Given the description of an element on the screen output the (x, y) to click on. 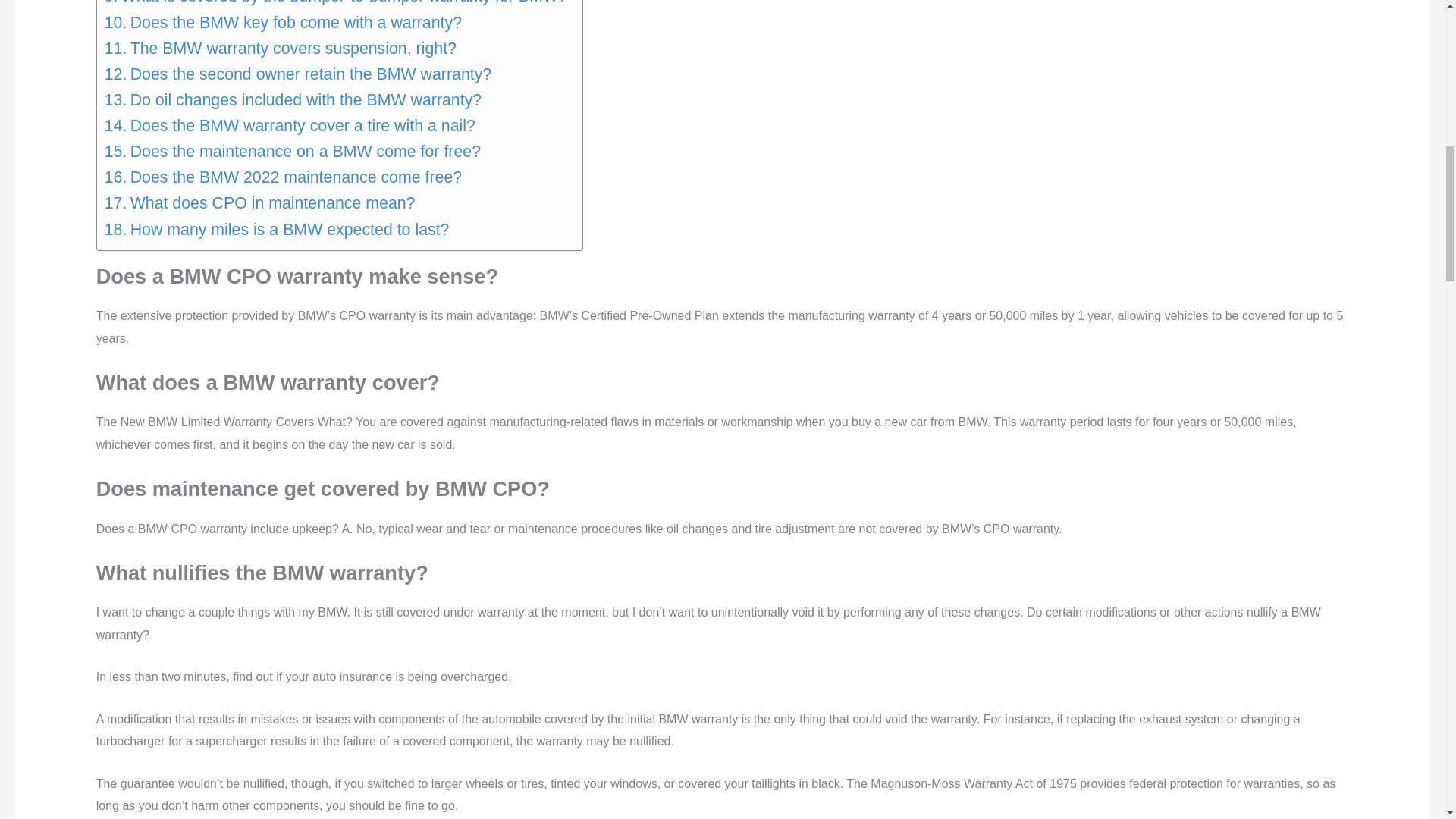
The BMW warranty covers suspension, right? (280, 48)
Does the second owner retain the BMW warranty? (298, 73)
Do oil changes included with the BMW warranty? (292, 99)
What is covered by the bumper-to-bumper warranty for BMW? (335, 4)
Do oil changes included with the BMW warranty? (292, 99)
Does the BMW warranty cover a tire with a nail? (290, 125)
The BMW warranty covers suspension, right? (280, 48)
Does the BMW 2022 maintenance come free? (282, 177)
What does CPO in maintenance mean? (259, 203)
What is covered by the bumper-to-bumper warranty for BMW? (335, 4)
How many miles is a BMW expected to last? (276, 229)
Does the BMW warranty cover a tire with a nail? (290, 125)
Does the second owner retain the BMW warranty? (298, 73)
Does the maintenance on a BMW come for free? (292, 151)
Does the BMW key fob come with a warranty? (282, 22)
